Given the description of an element on the screen output the (x, y) to click on. 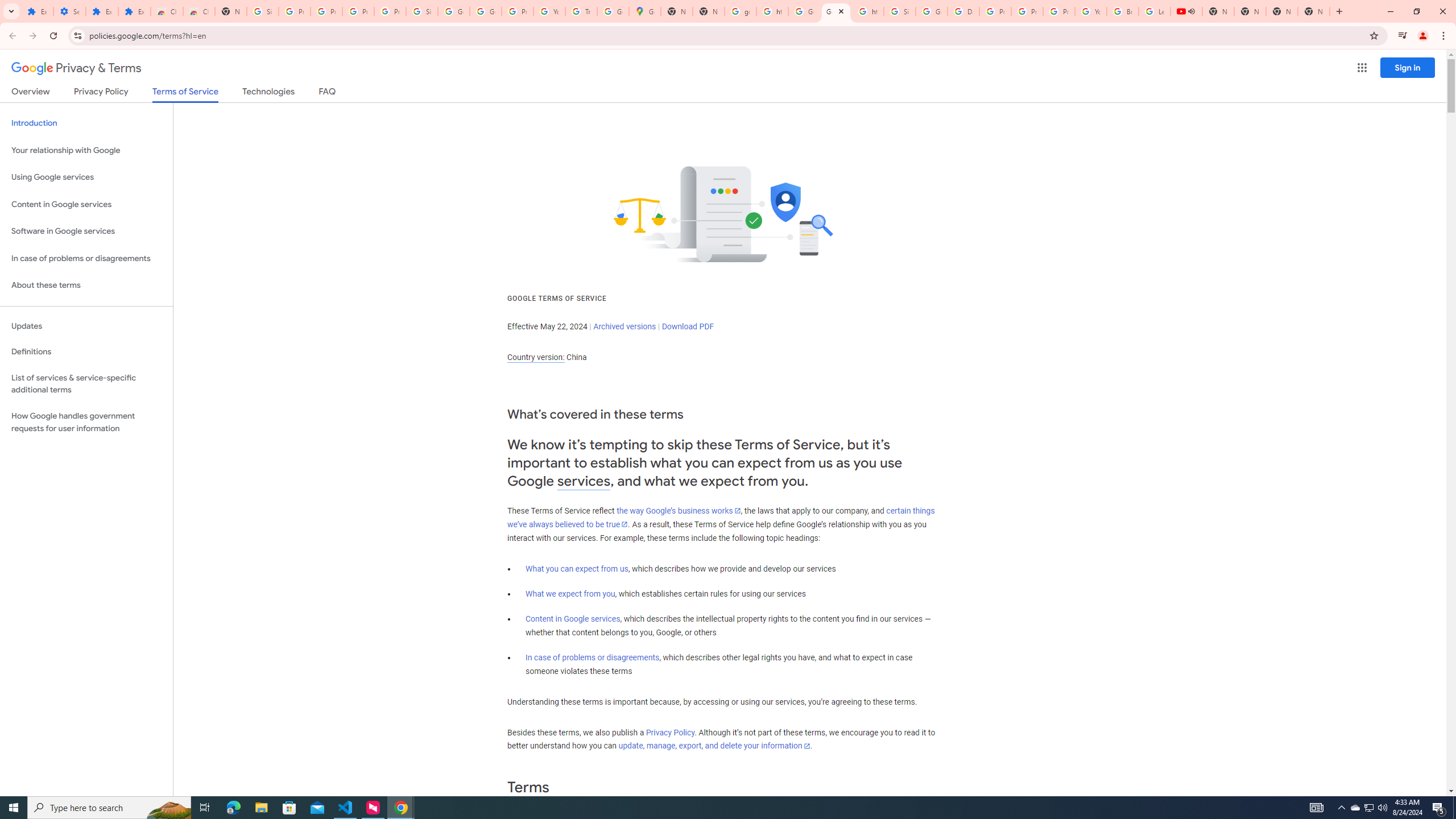
New Tab (1313, 11)
Google Maps (644, 11)
Chrome Web Store - Themes (198, 11)
Sign in - Google Accounts (899, 11)
Sign in - Google Accounts (421, 11)
Software in Google services (86, 230)
